Given the description of an element on the screen output the (x, y) to click on. 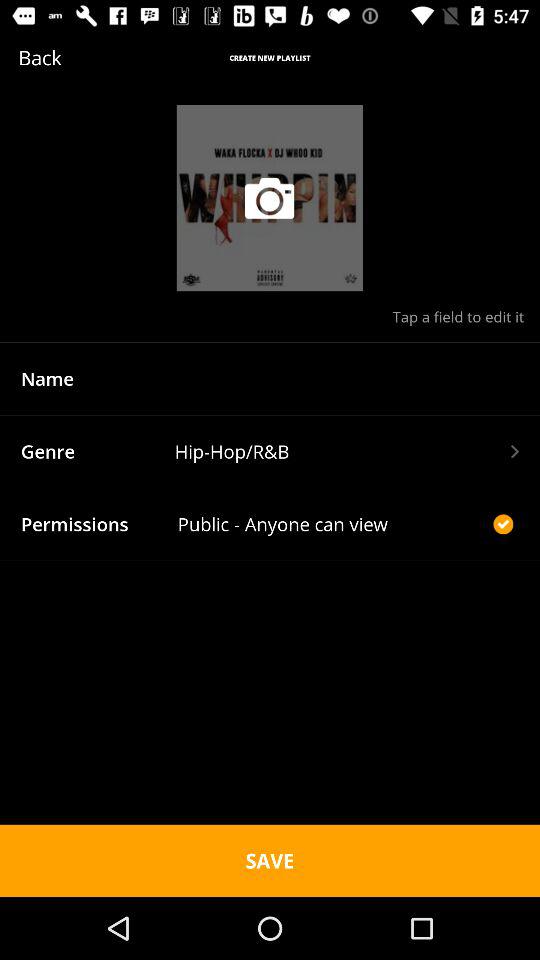
click icon to the right of the permissions icon (332, 524)
